Given the description of an element on the screen output the (x, y) to click on. 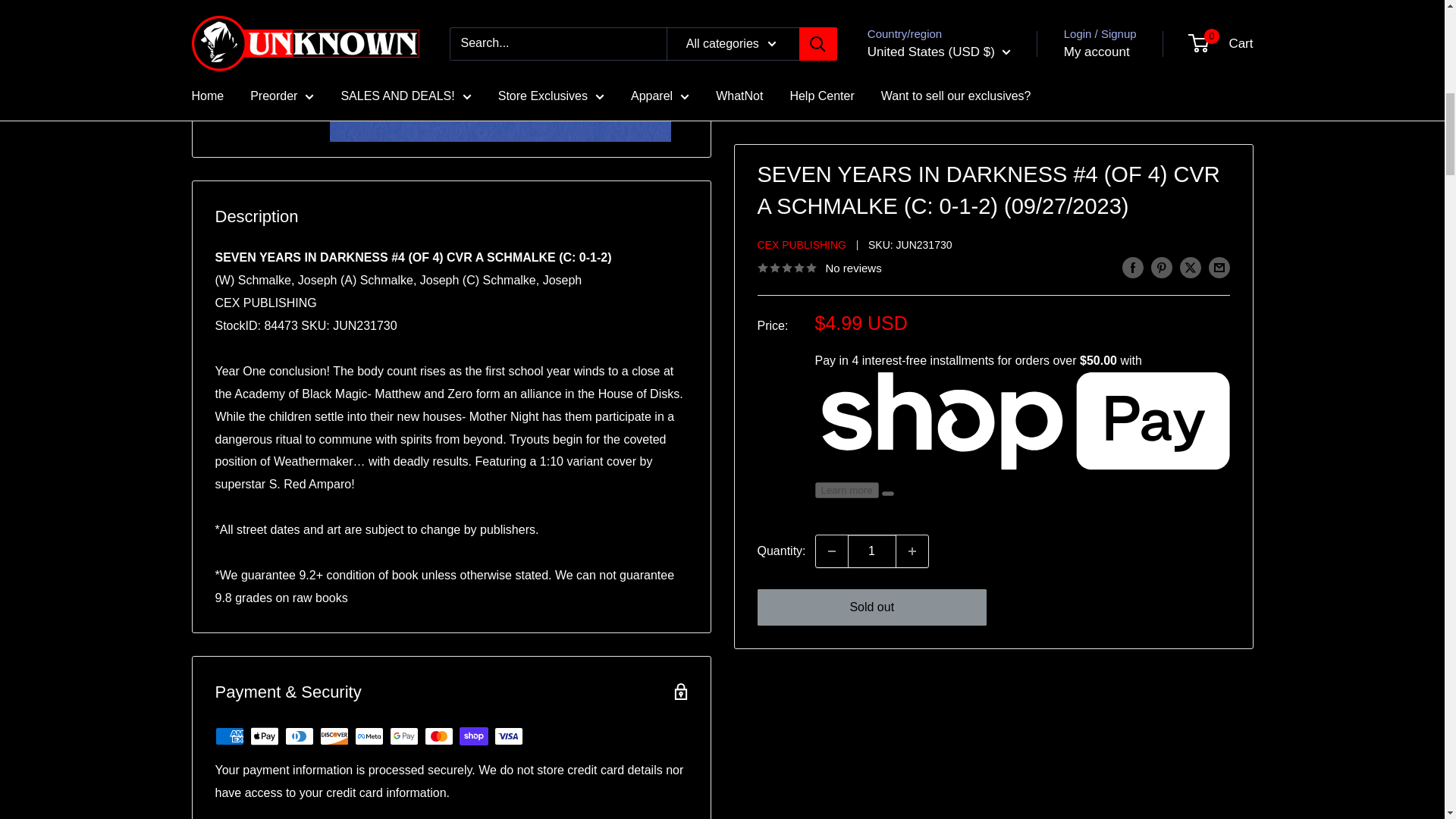
Decrease quantity by 1 (831, 8)
Increase quantity by 1 (912, 8)
1 (871, 8)
